Given the description of an element on the screen output the (x, y) to click on. 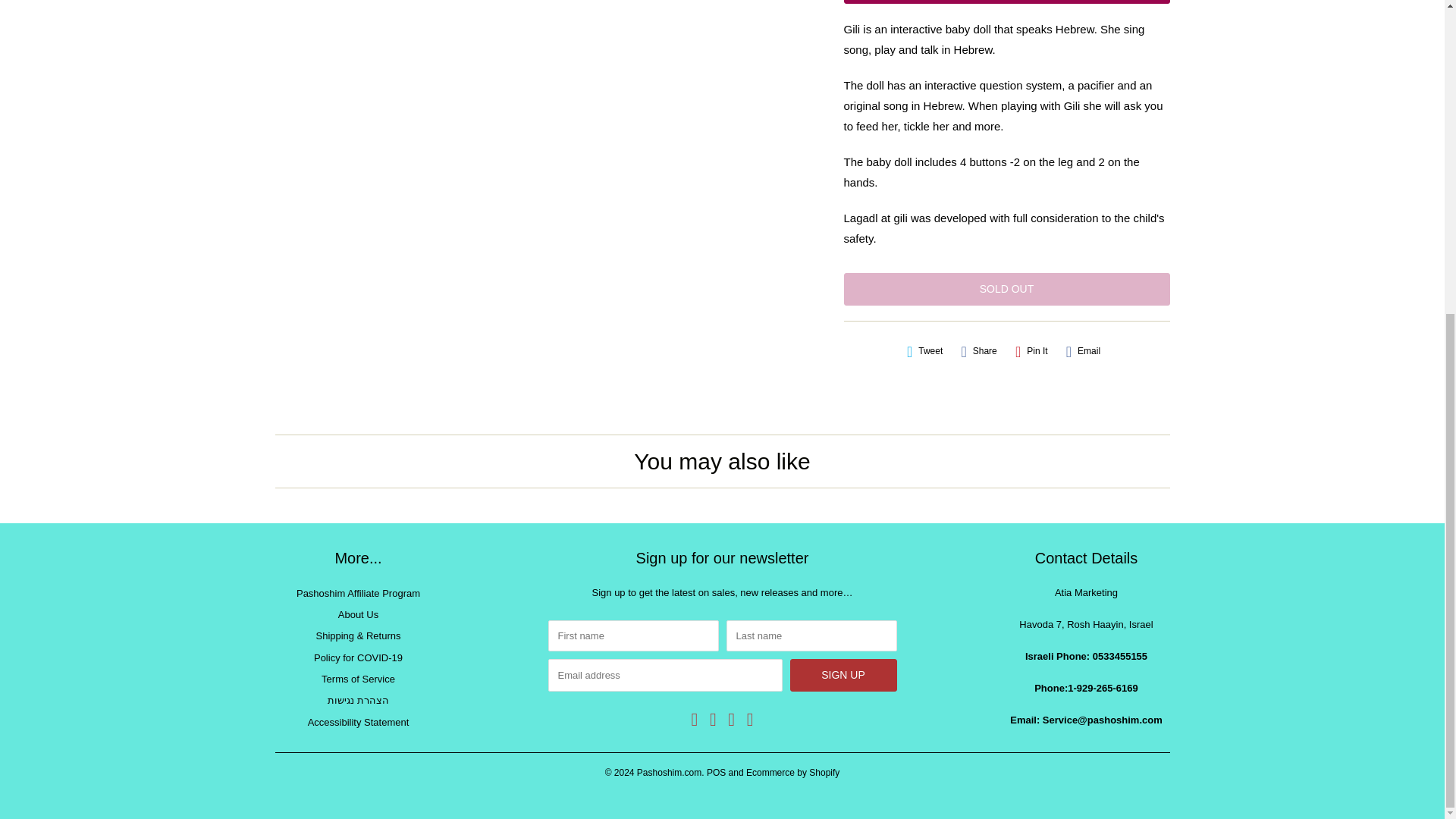
Pashoshim.com on Facebook (694, 719)
Sign Up (843, 675)
Share this on Twitter (924, 351)
Share this on Facebook (978, 351)
Pashoshim.com on YouTube (713, 719)
Email this to a friend (1083, 351)
Pashoshim.com on Instagram (749, 719)
Pashoshim.com on Pinterest (730, 719)
Send (1006, 2)
Share this on Pinterest (1031, 351)
